Given the description of an element on the screen output the (x, y) to click on. 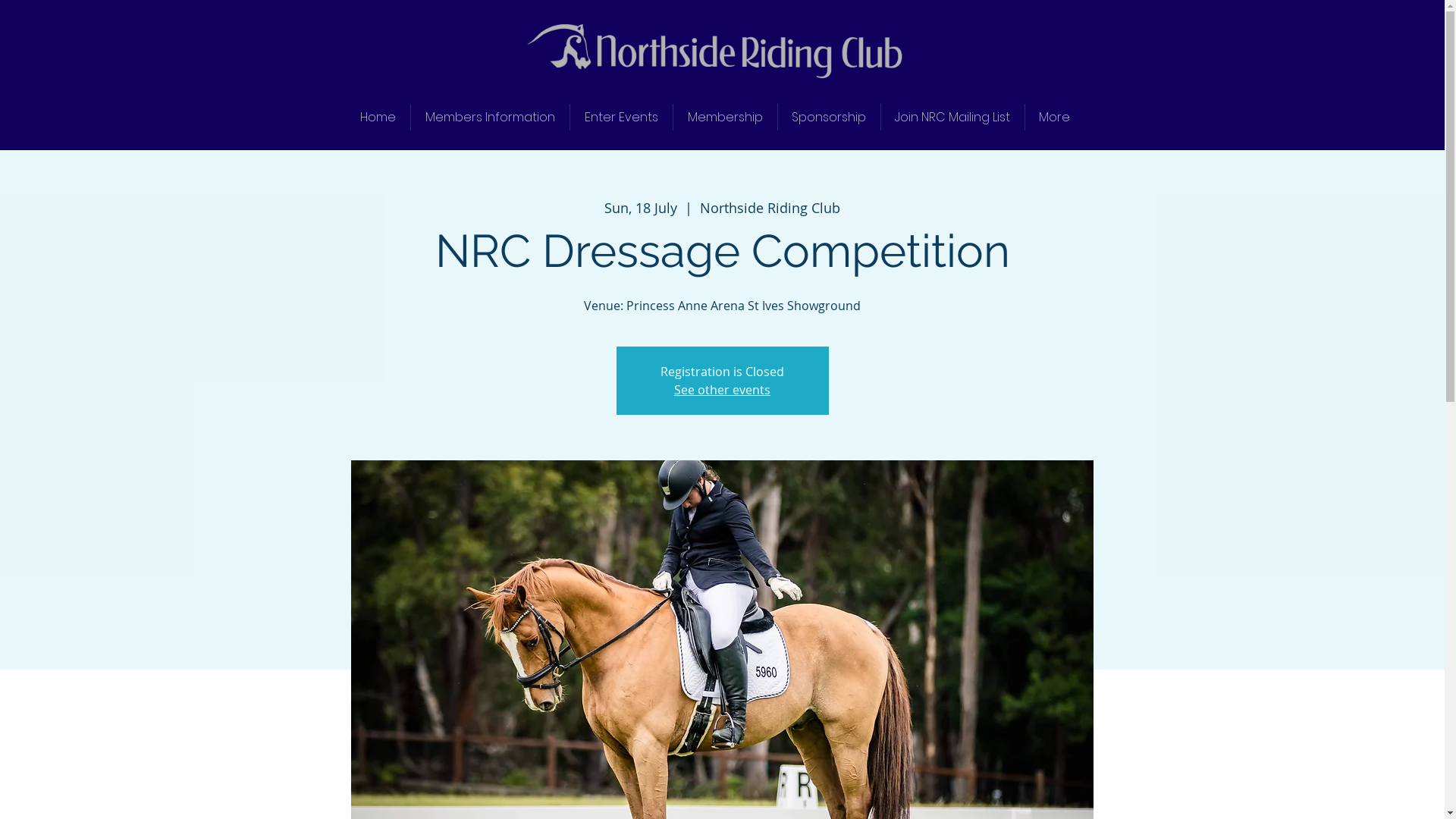
Join NRC Mailing List Element type: text (952, 116)
Untitled design (2).png Element type: hover (713, 45)
Members Information Element type: text (490, 116)
Enter Events Element type: text (621, 116)
Sponsorship Element type: text (829, 116)
See other events Element type: text (722, 389)
Membership Element type: text (725, 116)
Home Element type: text (377, 116)
